Given the description of an element on the screen output the (x, y) to click on. 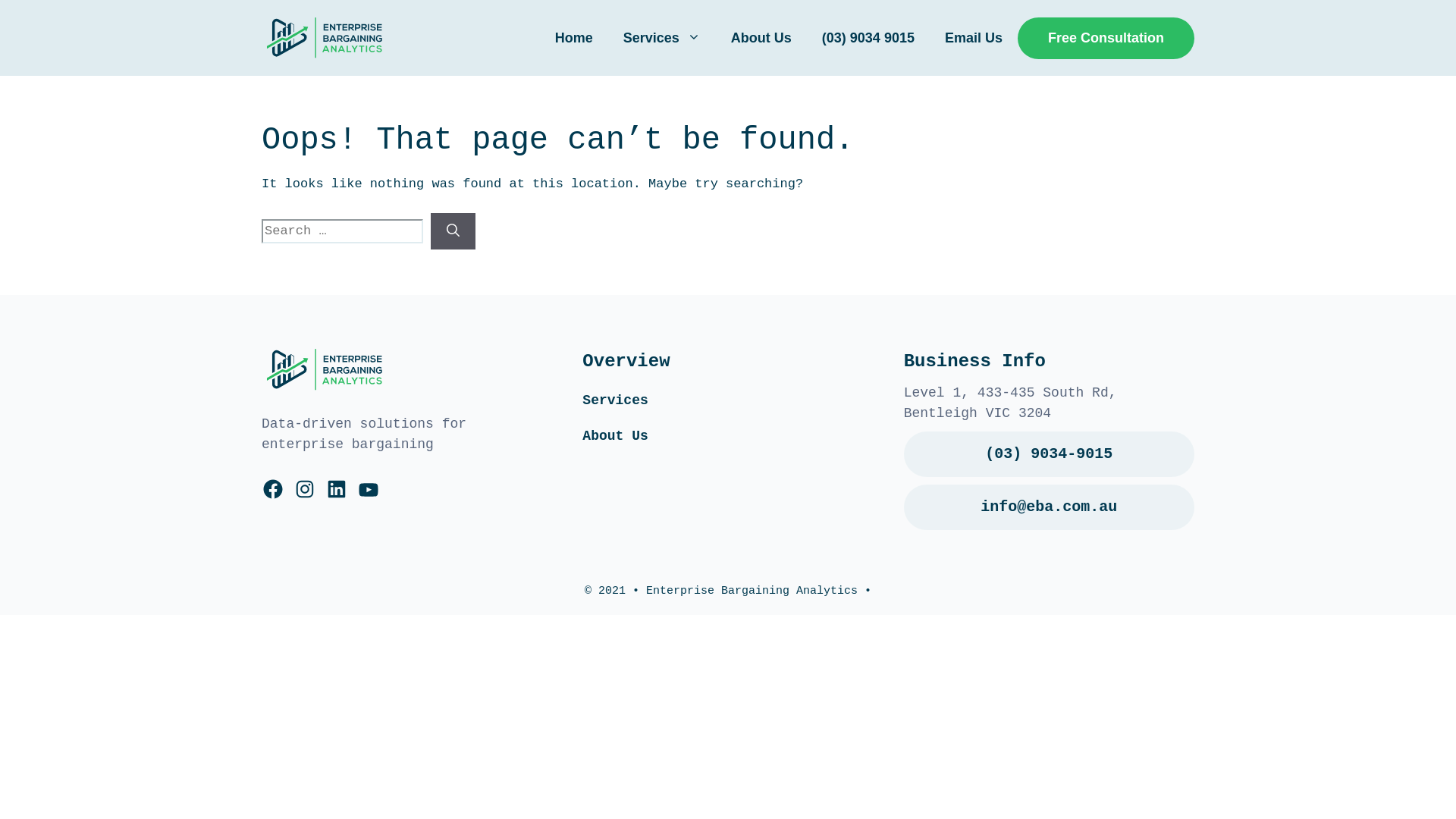
Free Consultation Element type: text (1105, 37)
LinkedIn Element type: text (336, 488)
Services Element type: text (661, 37)
Instagram Element type: text (304, 488)
Home Element type: text (573, 37)
EBA Element type: hover (325, 369)
Facebook Element type: text (272, 488)
About Us Element type: text (614, 435)
Search for: Element type: hover (342, 231)
Email Us Element type: text (973, 37)
(03) 9034 9015 Element type: text (867, 37)
About Us Element type: text (760, 37)
Services Element type: text (614, 399)
YouTube Element type: text (368, 489)
